Given the description of an element on the screen output the (x, y) to click on. 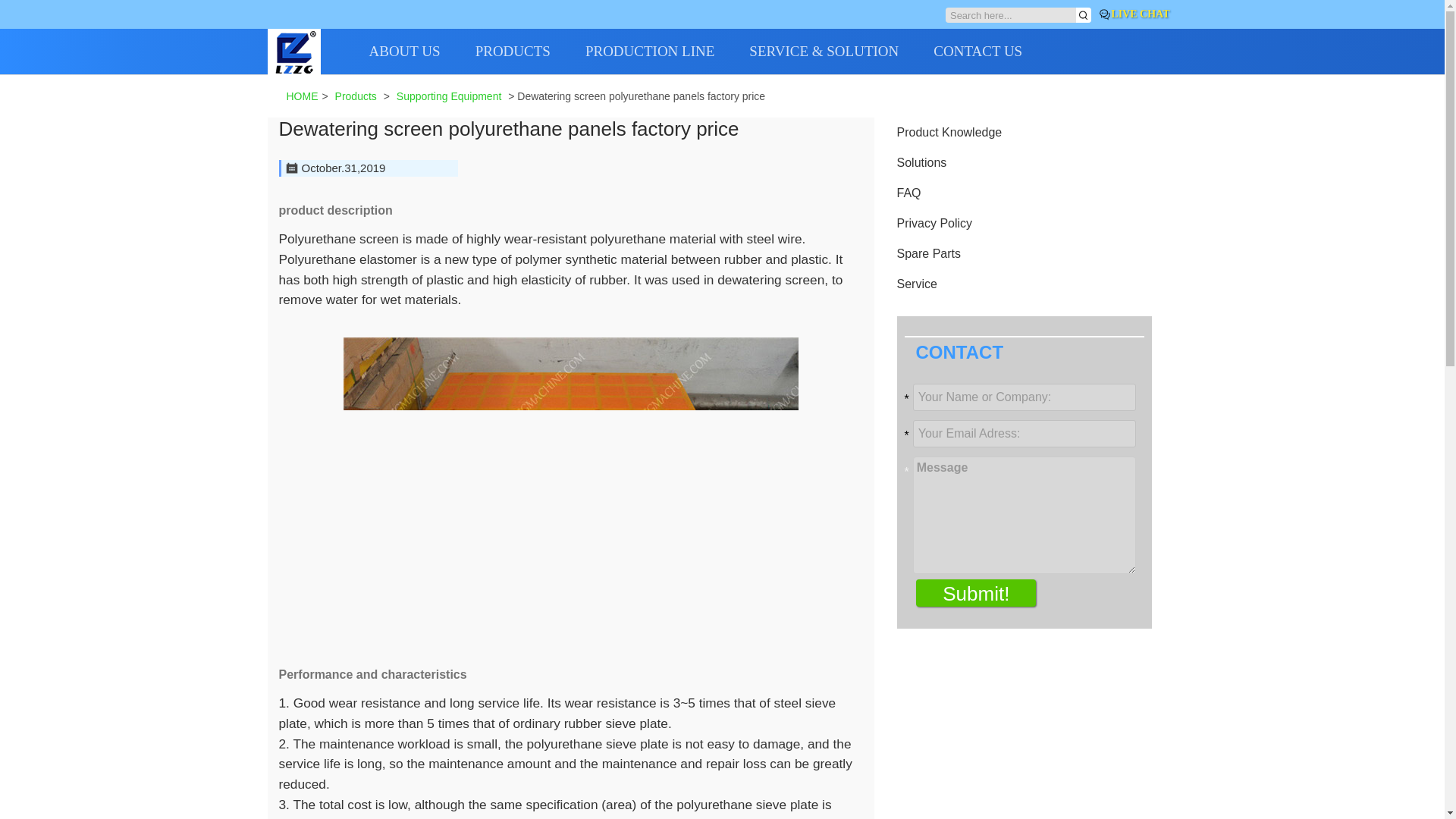
Products (355, 96)
Product Knowledge (948, 132)
ABOUT US (421, 51)
Service (916, 283)
Solutions (921, 162)
FAQ (908, 192)
Supporting Equipment (449, 96)
CONTACT US (995, 51)
PRODUCTS (530, 51)
Spare Parts (927, 253)
